Given the description of an element on the screen output the (x, y) to click on. 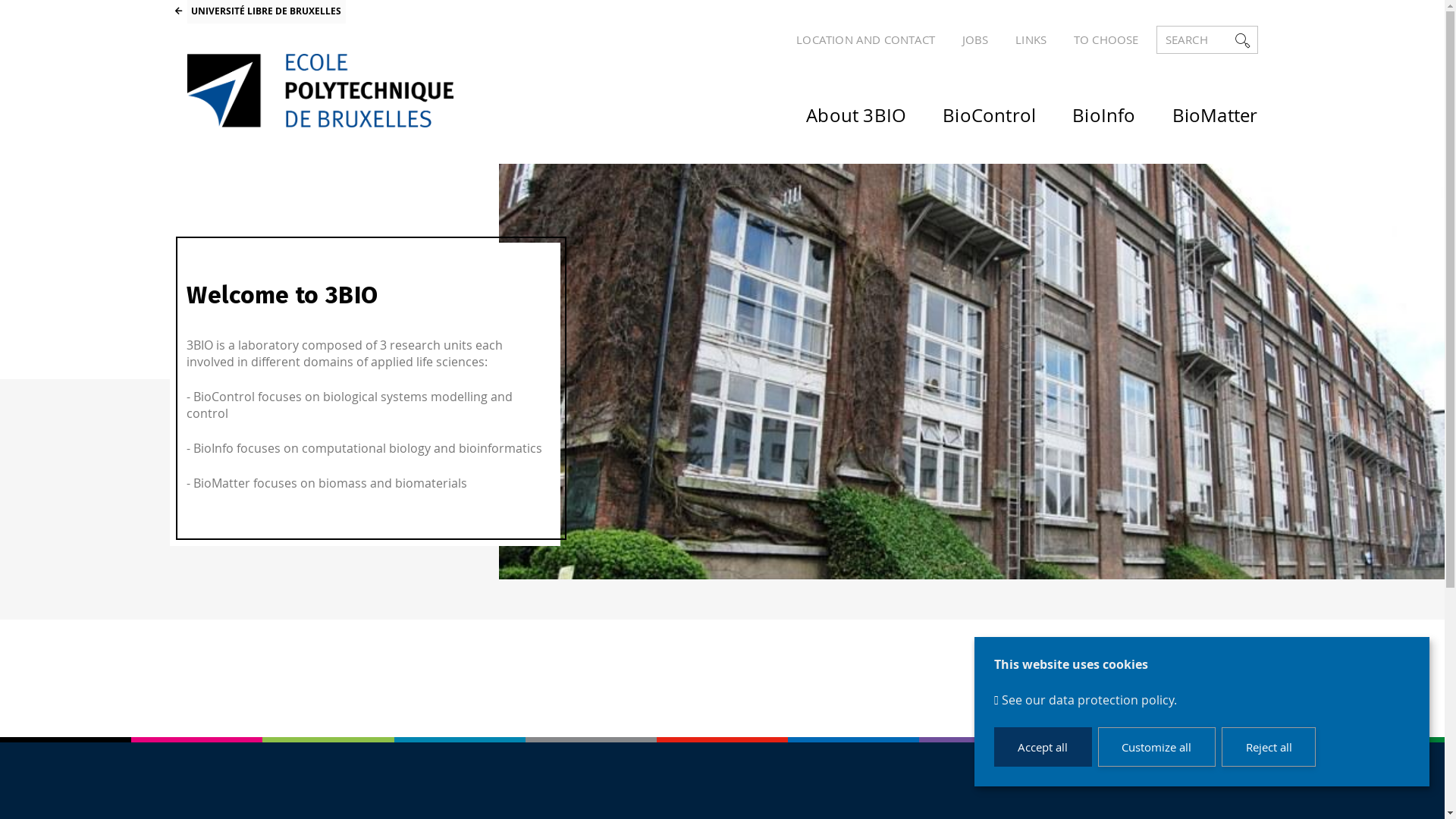
LOCATION AND CONTACT Element type: text (856, 39)
SEARCH Element type: text (1206, 39)
See our data protection policy. Element type: text (1088, 699)
BioInfo Element type: text (1085, 109)
LINKS Element type: text (1021, 39)
About 3BIO Element type: text (837, 109)
BioMatter Element type: text (1196, 109)
TO CHOOSE Element type: text (1096, 39)
Back to homepage Element type: hover (319, 90)
Customize all Element type: text (1156, 746)
JOBS Element type: text (964, 39)
Accept all Element type: text (1043, 746)
Reject all Element type: text (1268, 746)
BioControl Element type: text (970, 109)
